Given the description of an element on the screen output the (x, y) to click on. 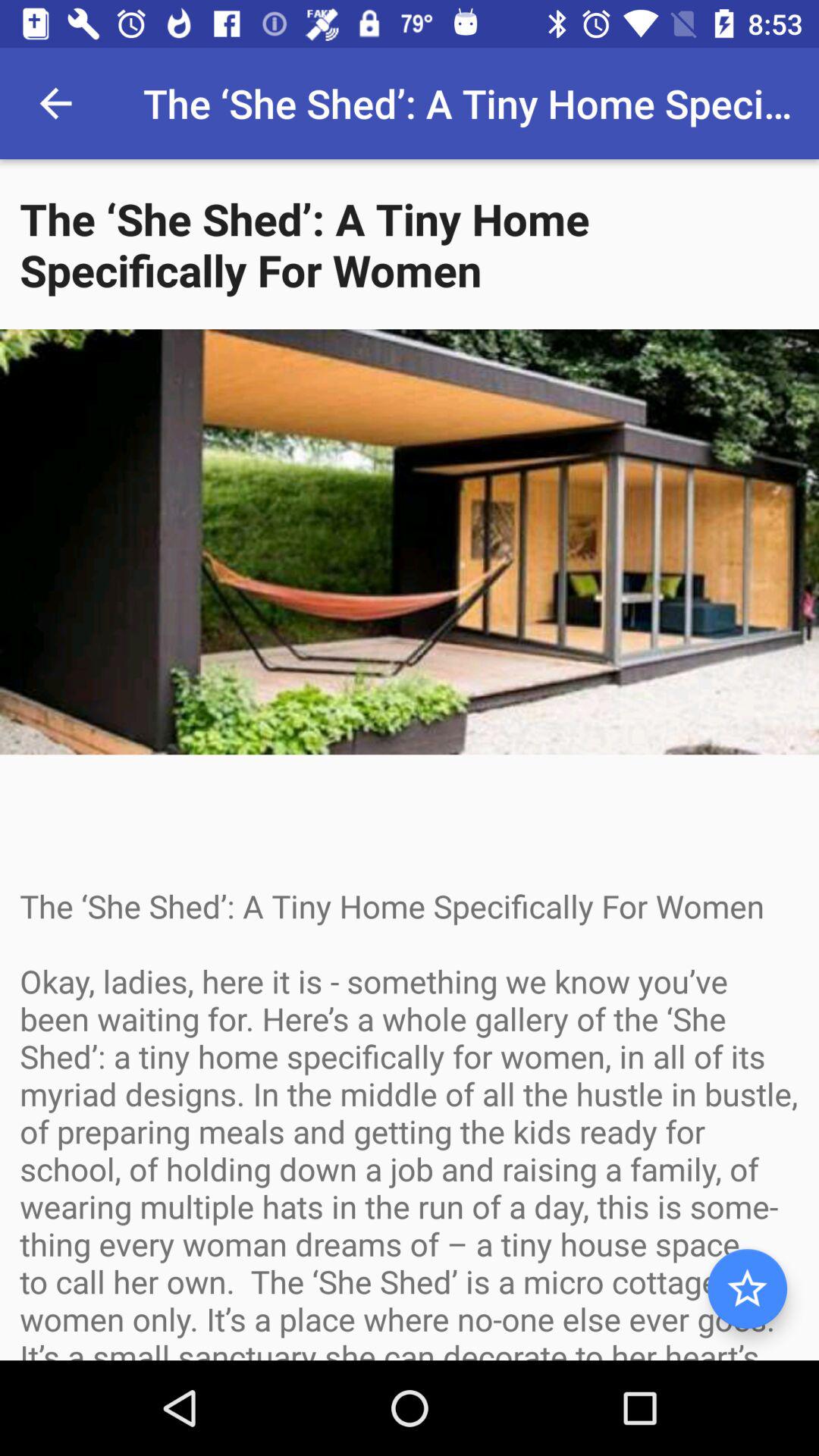
turn on the icon at the top left corner (55, 103)
